Given the description of an element on the screen output the (x, y) to click on. 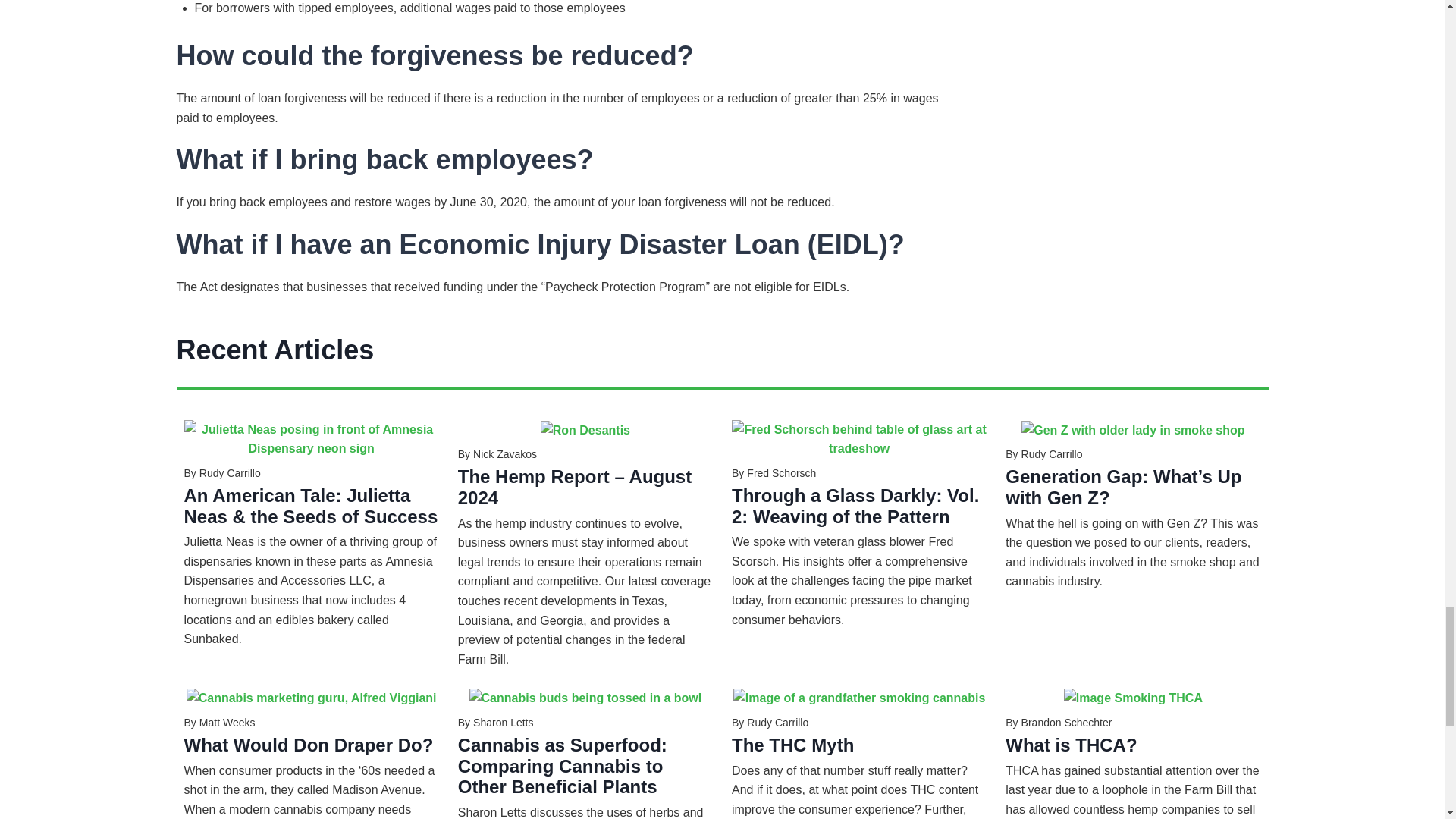
Gen-Z-2 (1133, 430)
what-is-thca (1133, 698)
Fred-Schorsch-Cover (859, 439)
Julietta-Neas (310, 439)
Gramps-Edited (859, 698)
Alfred-Viggiani-Cover (311, 698)
